Given the description of an element on the screen output the (x, y) to click on. 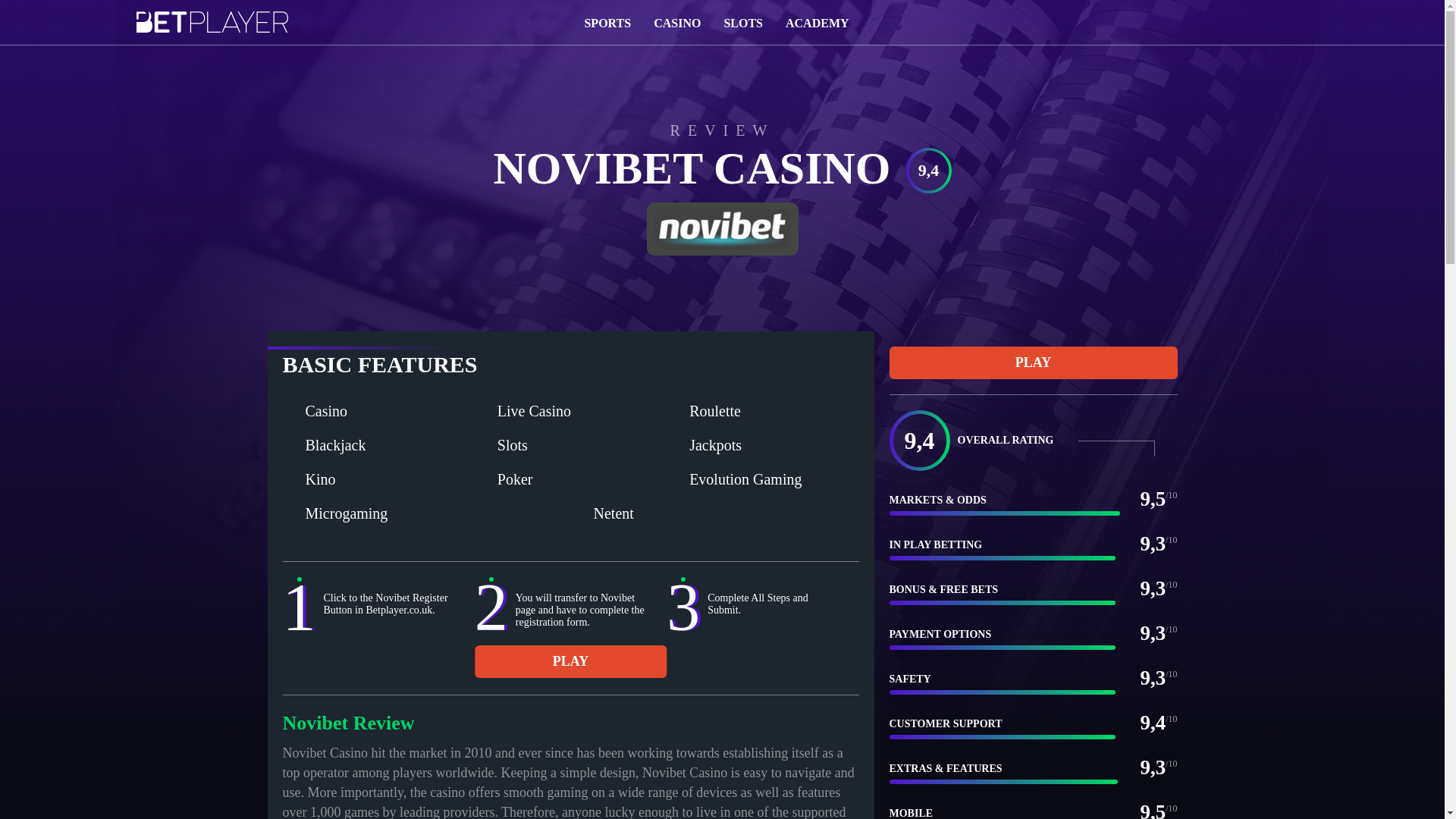
SPORTS (606, 21)
CASINO (676, 21)
PLAY (570, 661)
ACADEMY (817, 21)
Betplayer (212, 29)
SLOTS (742, 21)
